Given the description of an element on the screen output the (x, y) to click on. 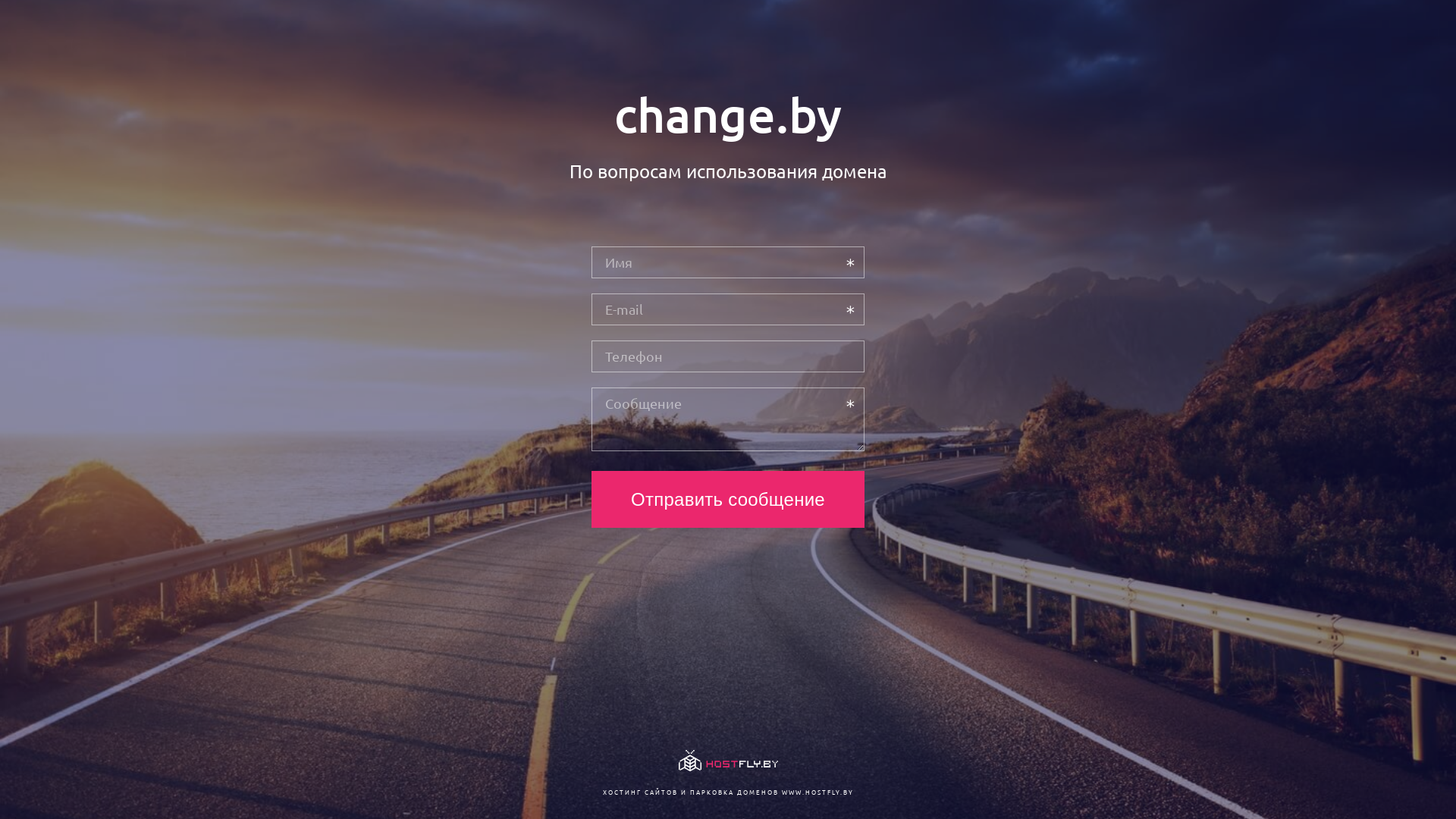
WWW.HOSTFLY.BY Element type: text (817, 791)
